Given the description of an element on the screen output the (x, y) to click on. 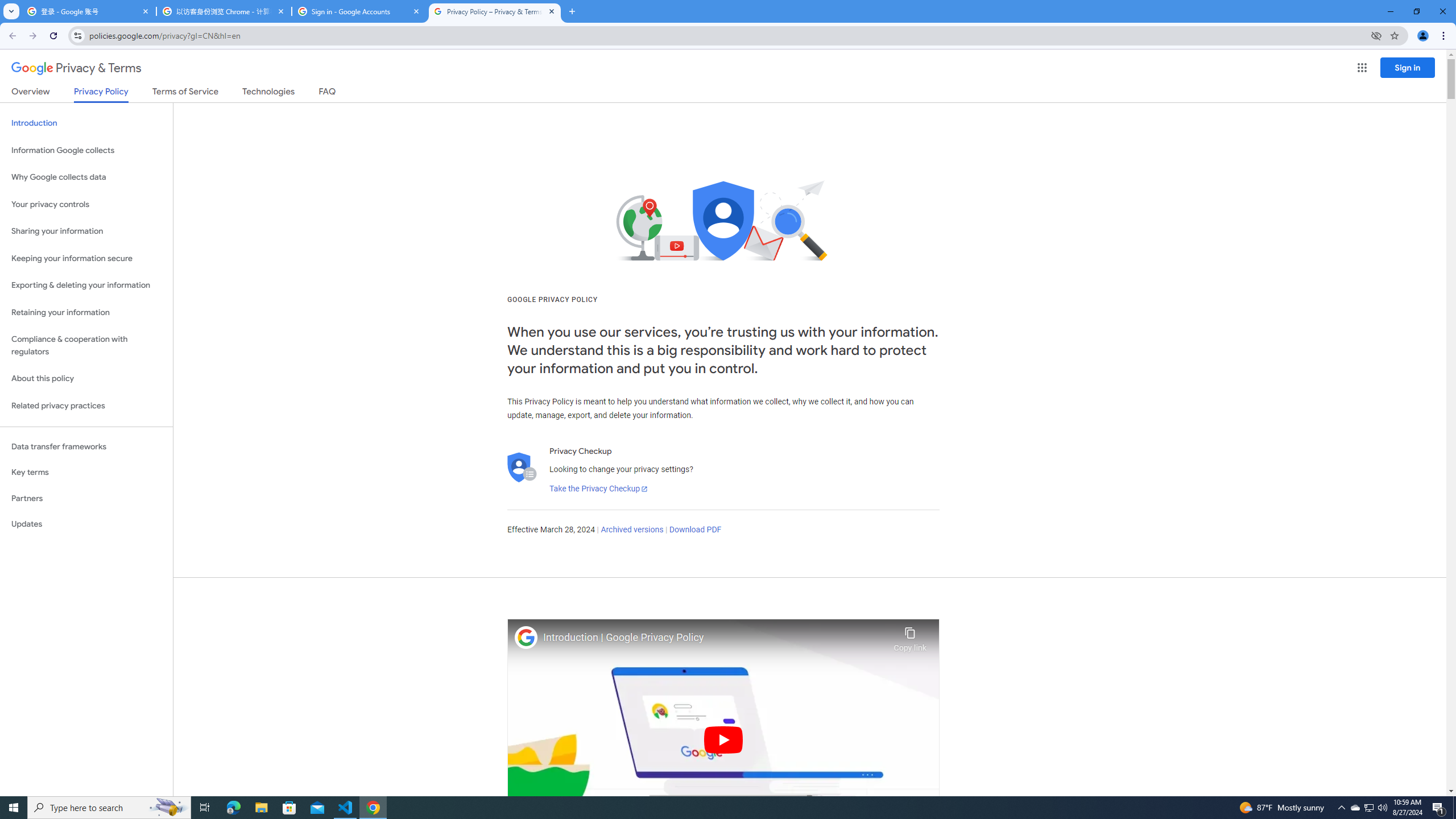
Your privacy controls (86, 204)
Information Google collects (86, 150)
Photo image of Google (526, 636)
About this policy (86, 379)
Take the Privacy Checkup (597, 488)
